Given the description of an element on the screen output the (x, y) to click on. 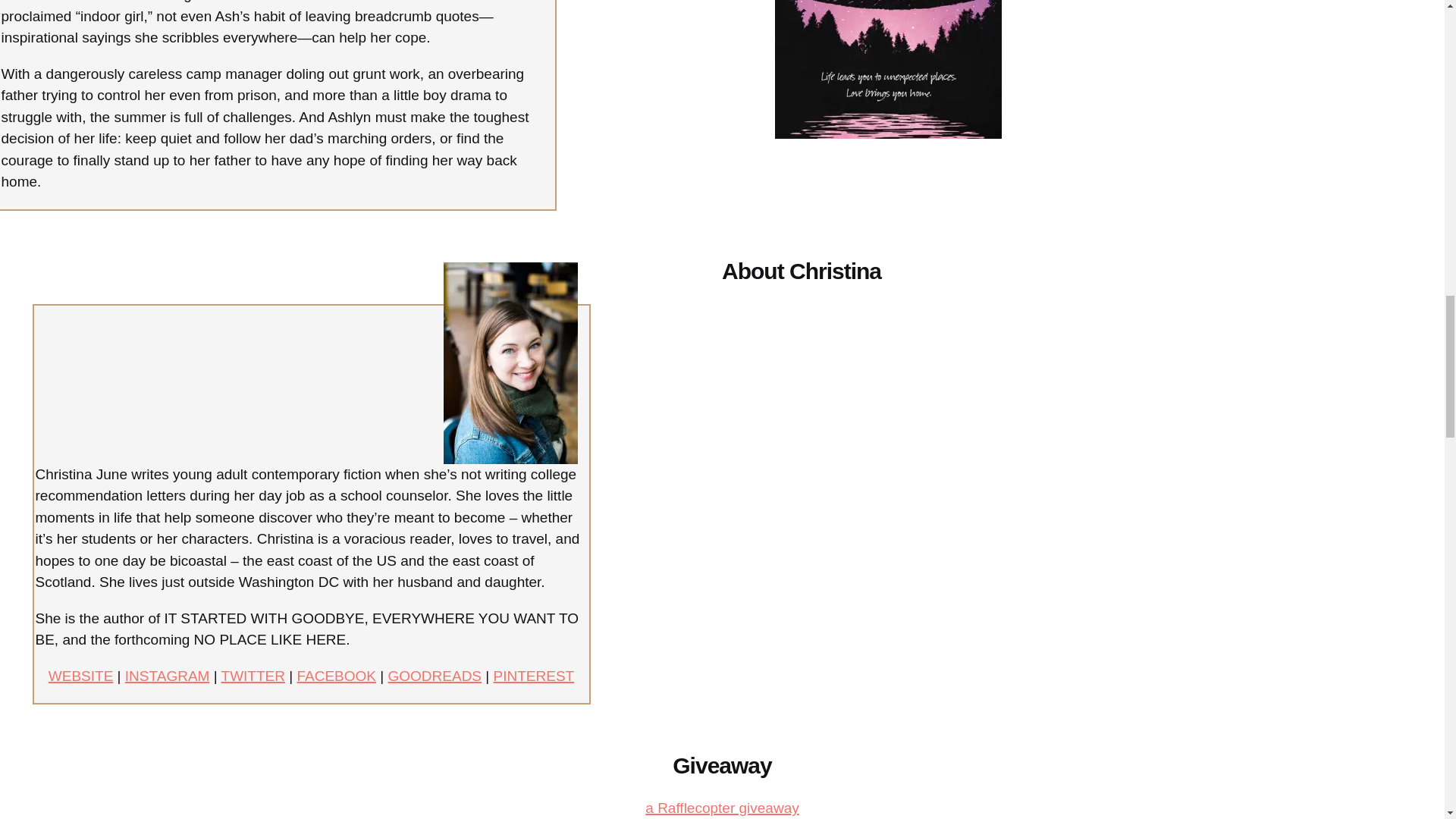
TWITTER (253, 675)
WEBSITE (80, 675)
INSTAGRAM (167, 675)
PINTEREST (534, 675)
GOODREADS (434, 675)
FACEBOOK (336, 675)
